Given the description of an element on the screen output the (x, y) to click on. 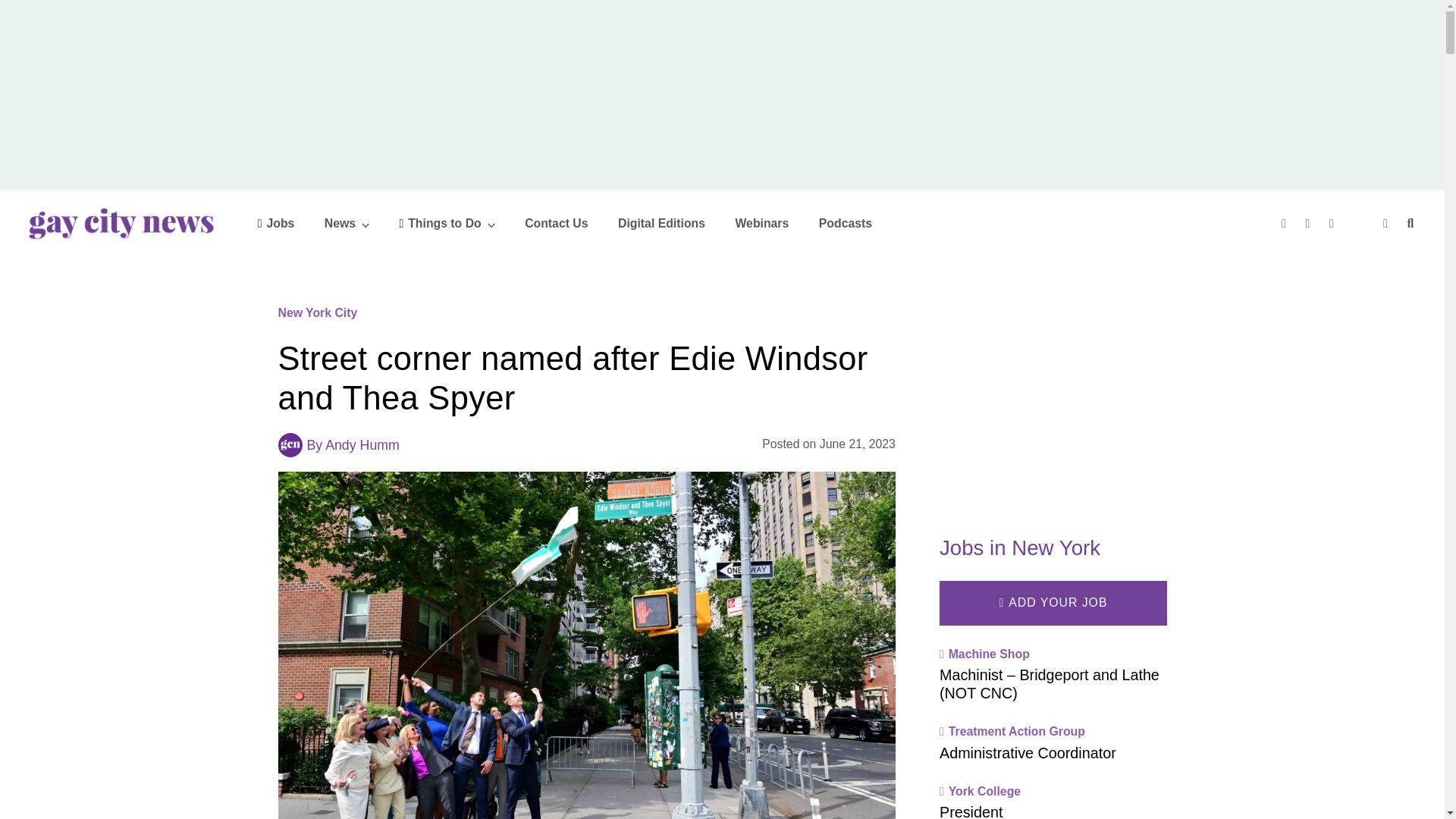
Digital Editions (660, 223)
Podcasts (845, 223)
Posts by Andy Humm (361, 444)
Webinars (762, 223)
Things to Do (446, 223)
News (346, 223)
Contact Us (556, 223)
Jobs (276, 223)
